Given the description of an element on the screen output the (x, y) to click on. 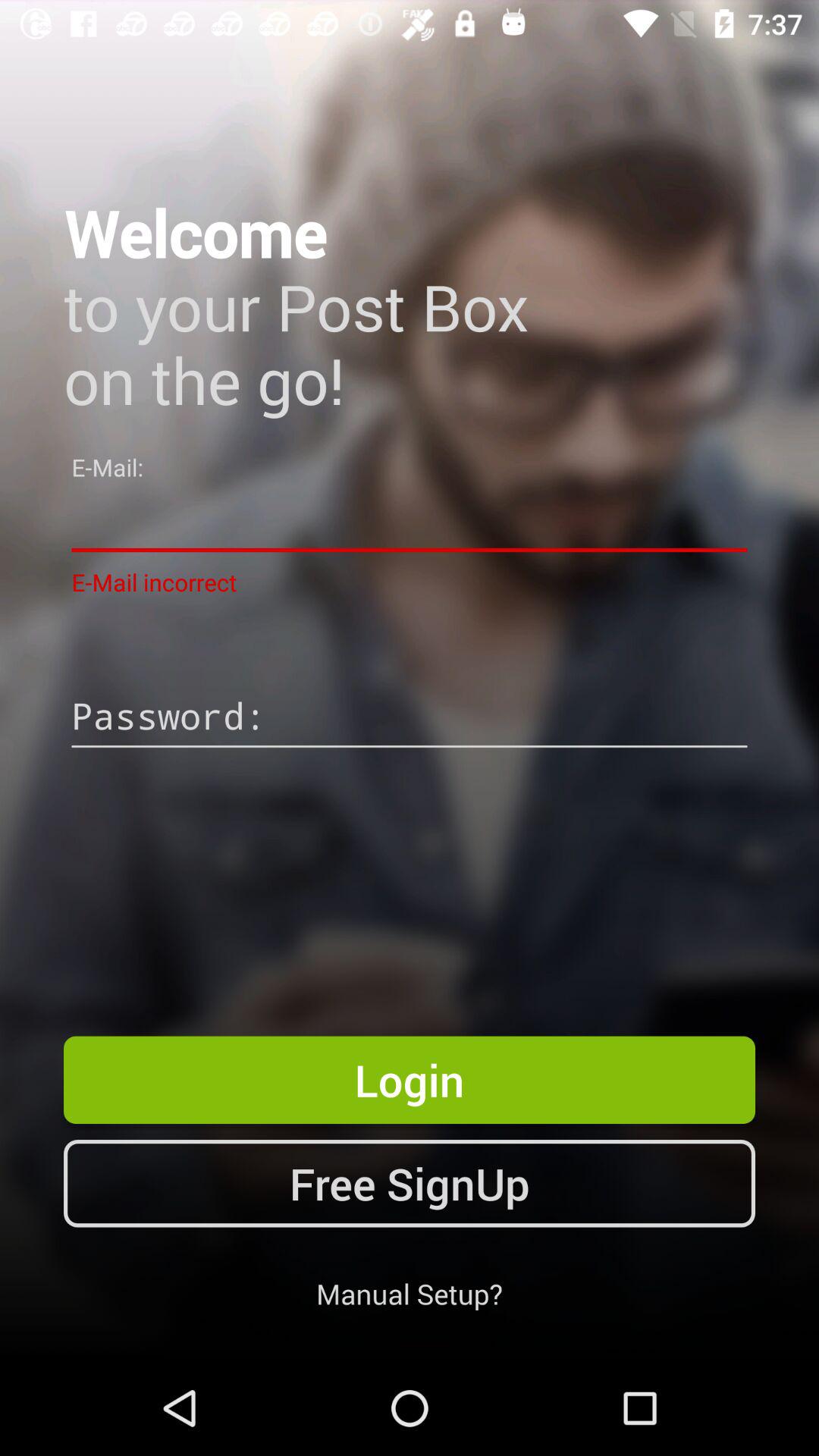
tap the item above free signup icon (409, 1079)
